Given the description of an element on the screen output the (x, y) to click on. 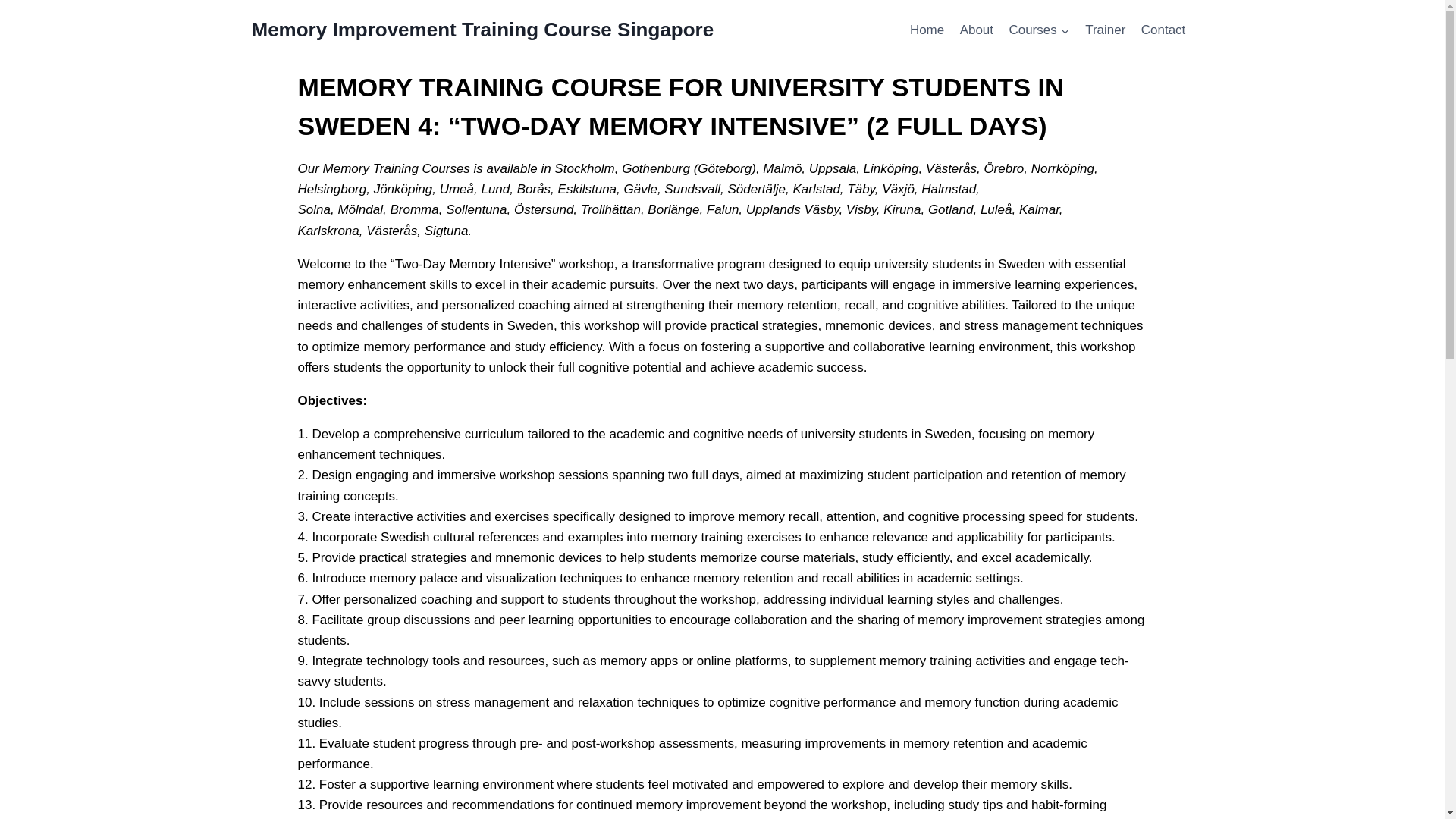
Courses (1039, 30)
Contact (1163, 30)
Memory Improvement Training Course Singapore (482, 29)
About (976, 30)
Home (927, 30)
Trainer (1105, 30)
